Given the description of an element on the screen output the (x, y) to click on. 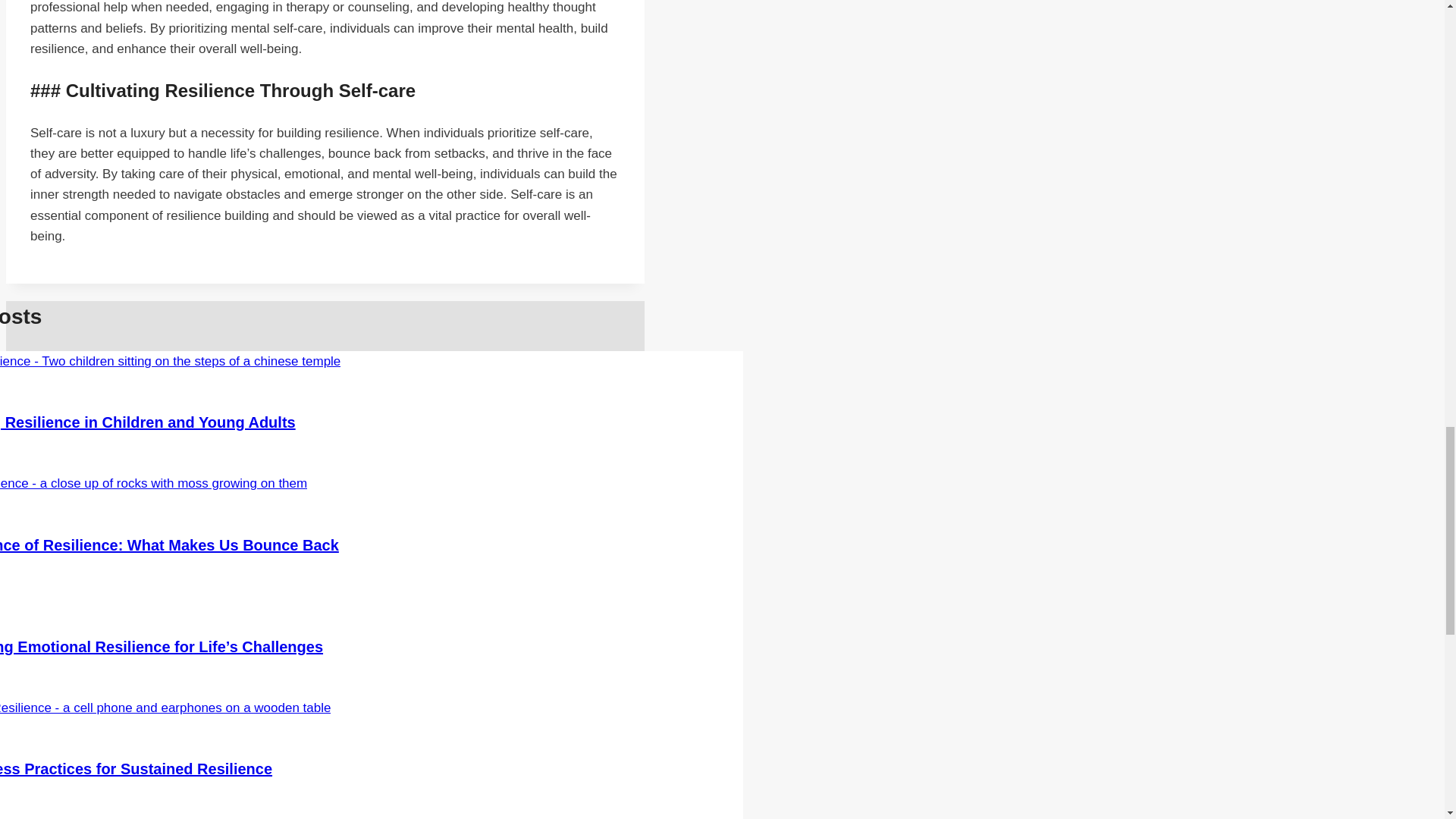
Mindfulness Practices for Sustained Resilience (136, 768)
Fostering Resilience in Children and Young Adults (147, 422)
The Science of Resilience: What Makes Us Bounce Back (169, 545)
